Given the description of an element on the screen output the (x, y) to click on. 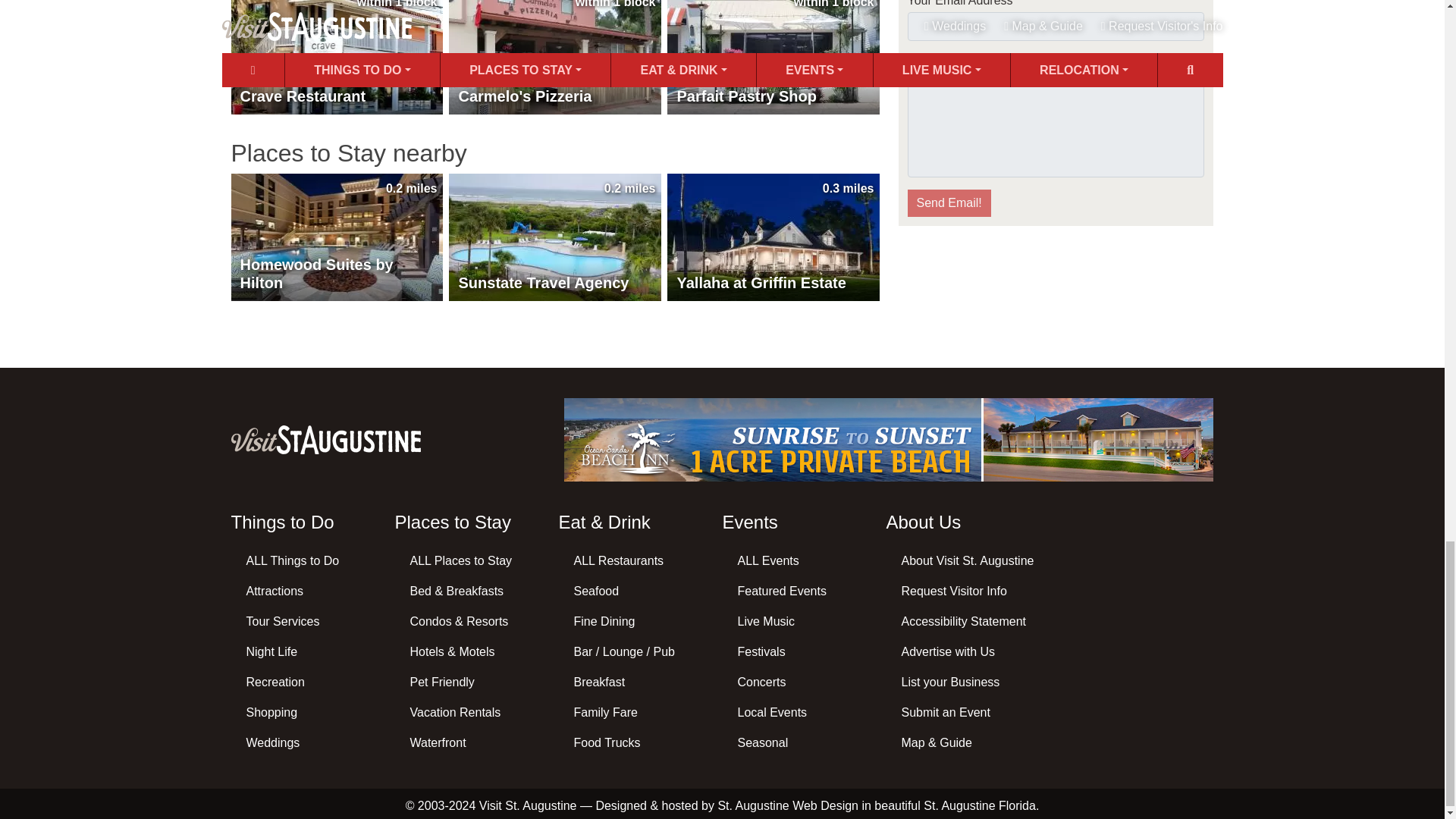
Send Email! (948, 203)
